Given the description of an element on the screen output the (x, y) to click on. 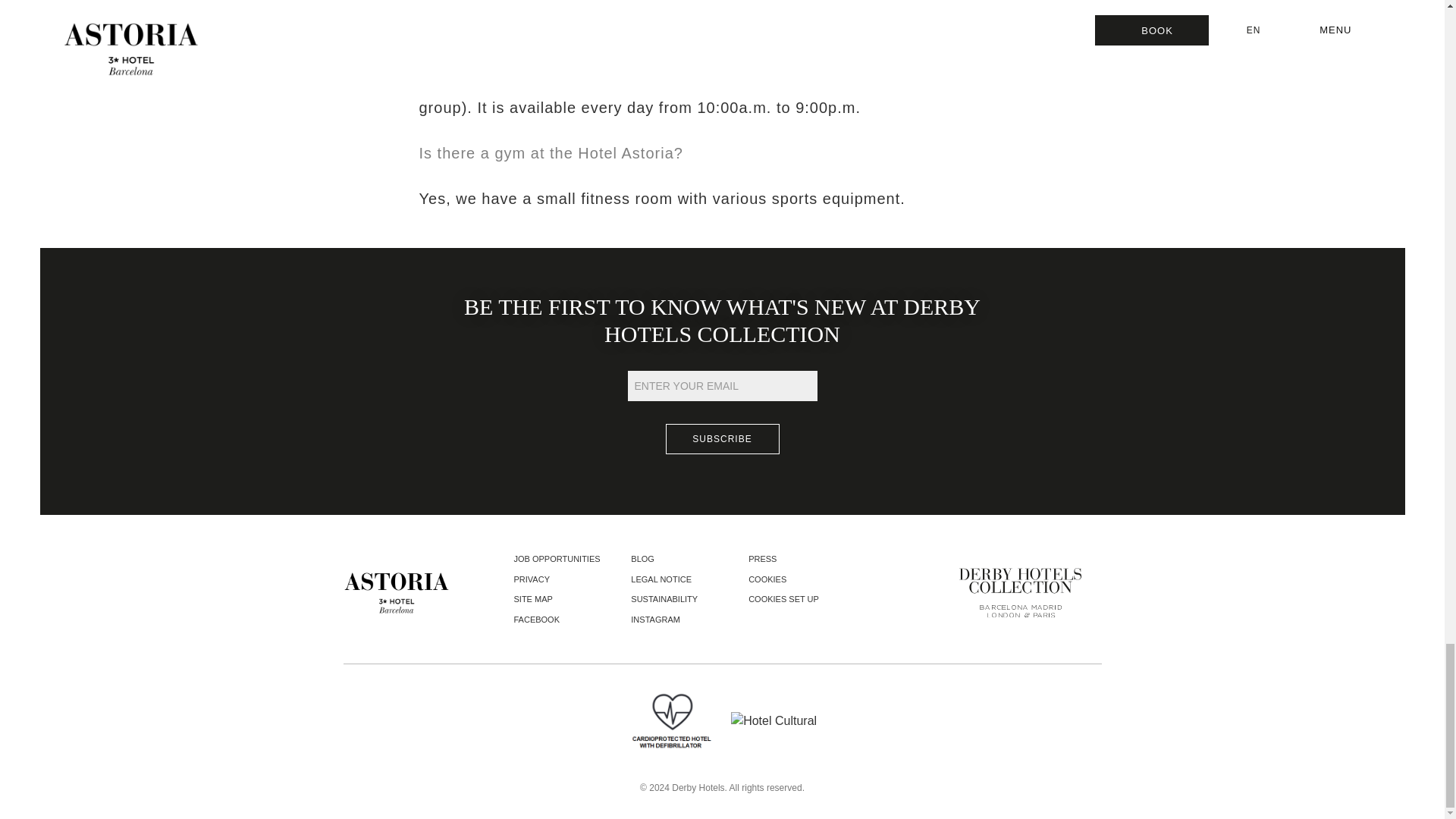
SUBSCRIBE (721, 439)
JOB OPPORTUNITIES (556, 558)
